Given the description of an element on the screen output the (x, y) to click on. 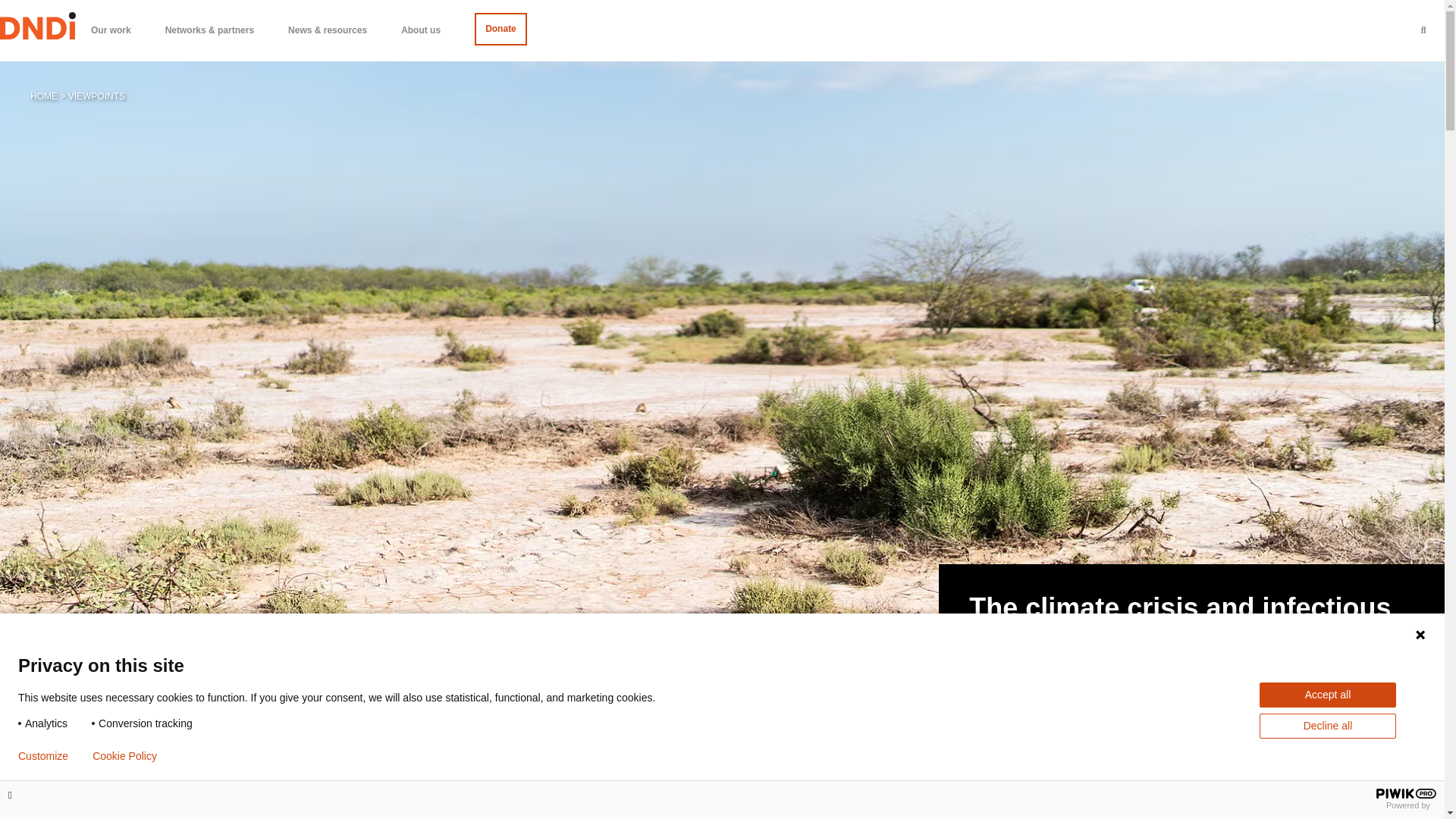
Go to the Viewpoints News Type archives. (96, 95)
Our work (112, 30)
Piwik PRO (1405, 793)
